Given the description of an element on the screen output the (x, y) to click on. 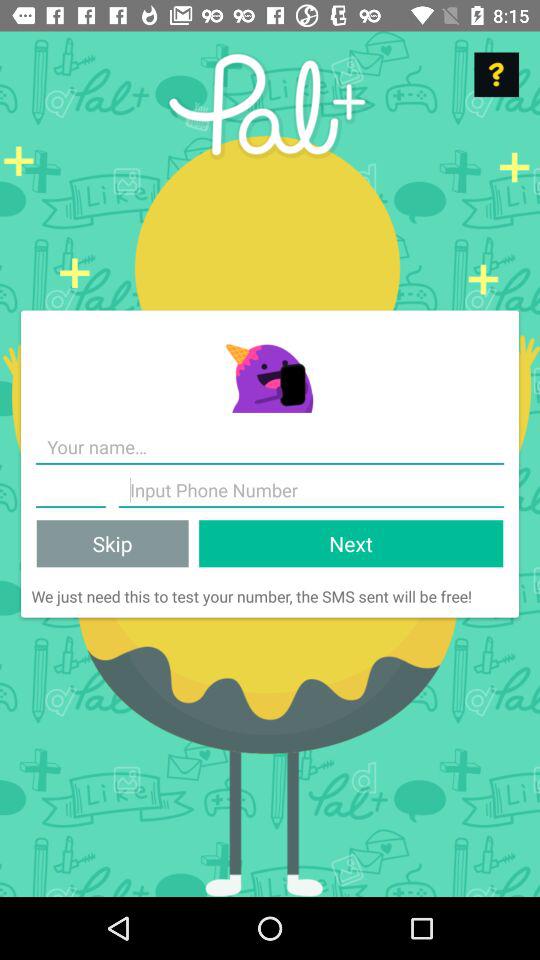
enter name option (70, 490)
